Given the description of an element on the screen output the (x, y) to click on. 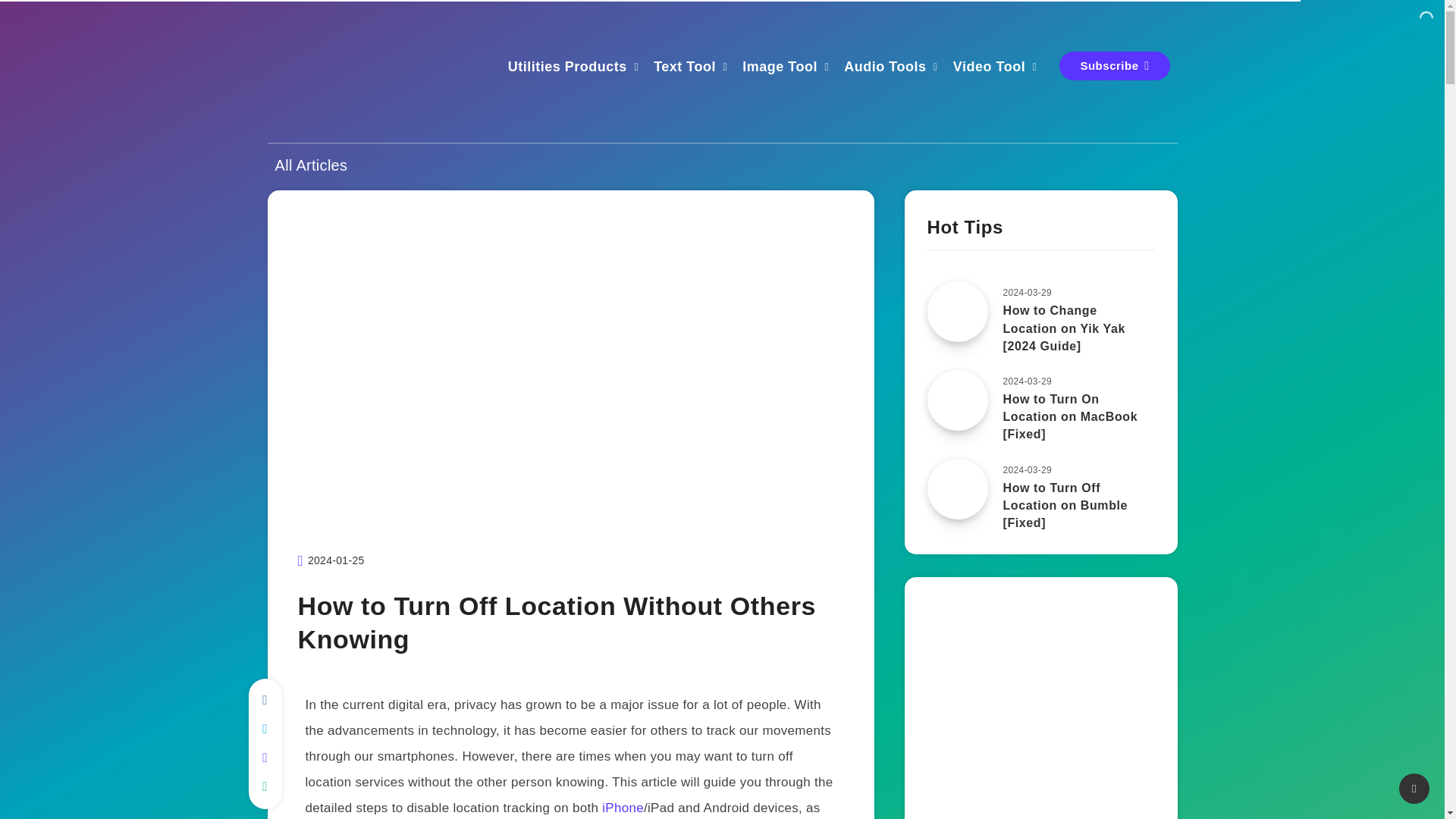
iPhone (622, 807)
Video Tool (989, 68)
Utilities Products (567, 68)
All Articles (311, 165)
Subscribe (1114, 65)
Text Tool (684, 68)
Audio Tools (885, 68)
Image Tool (779, 68)
